Given the description of an element on the screen output the (x, y) to click on. 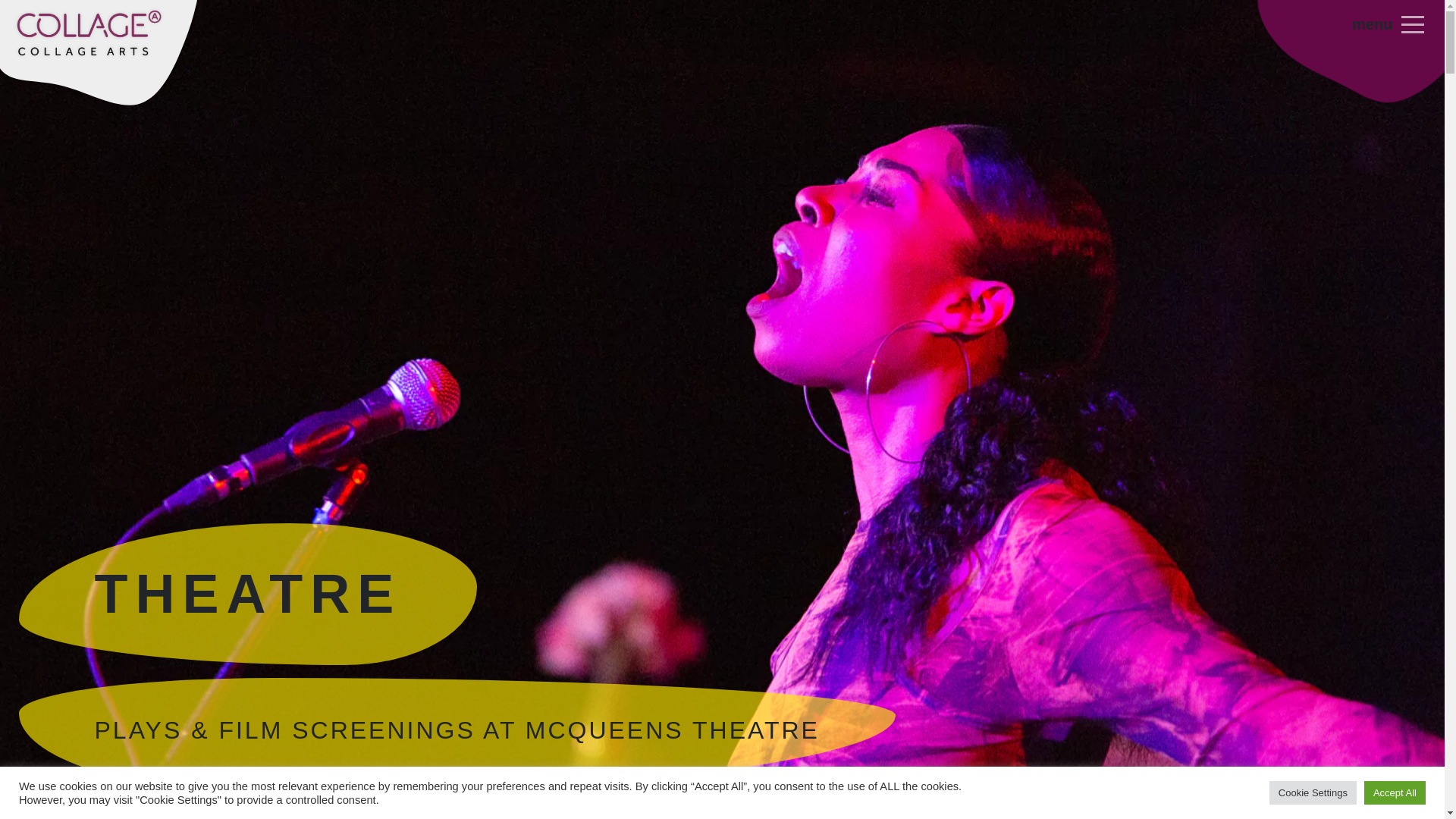
menu (1384, 31)
